Given the description of an element on the screen output the (x, y) to click on. 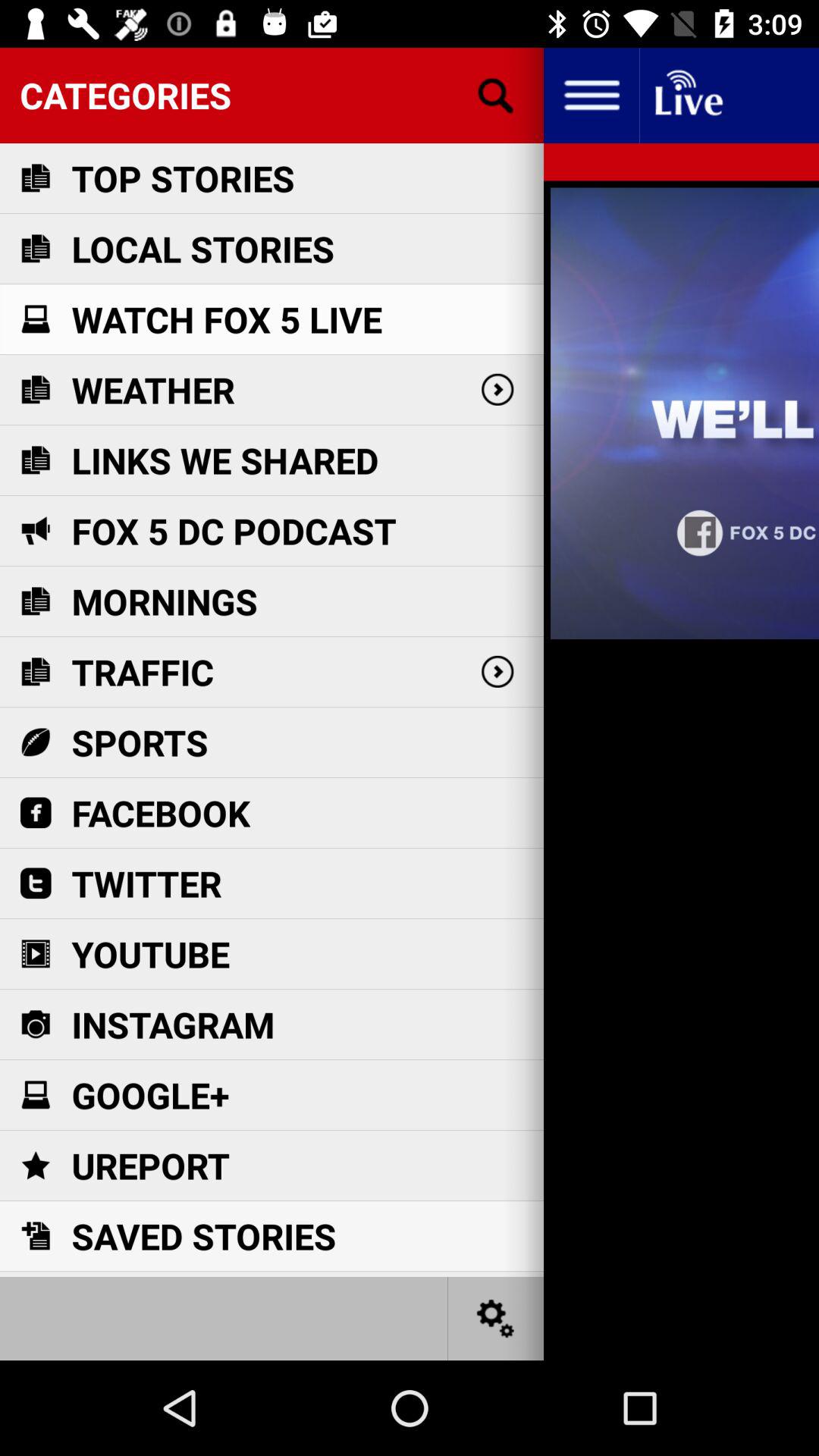
turn on item below the traffic item (139, 742)
